Given the description of an element on the screen output the (x, y) to click on. 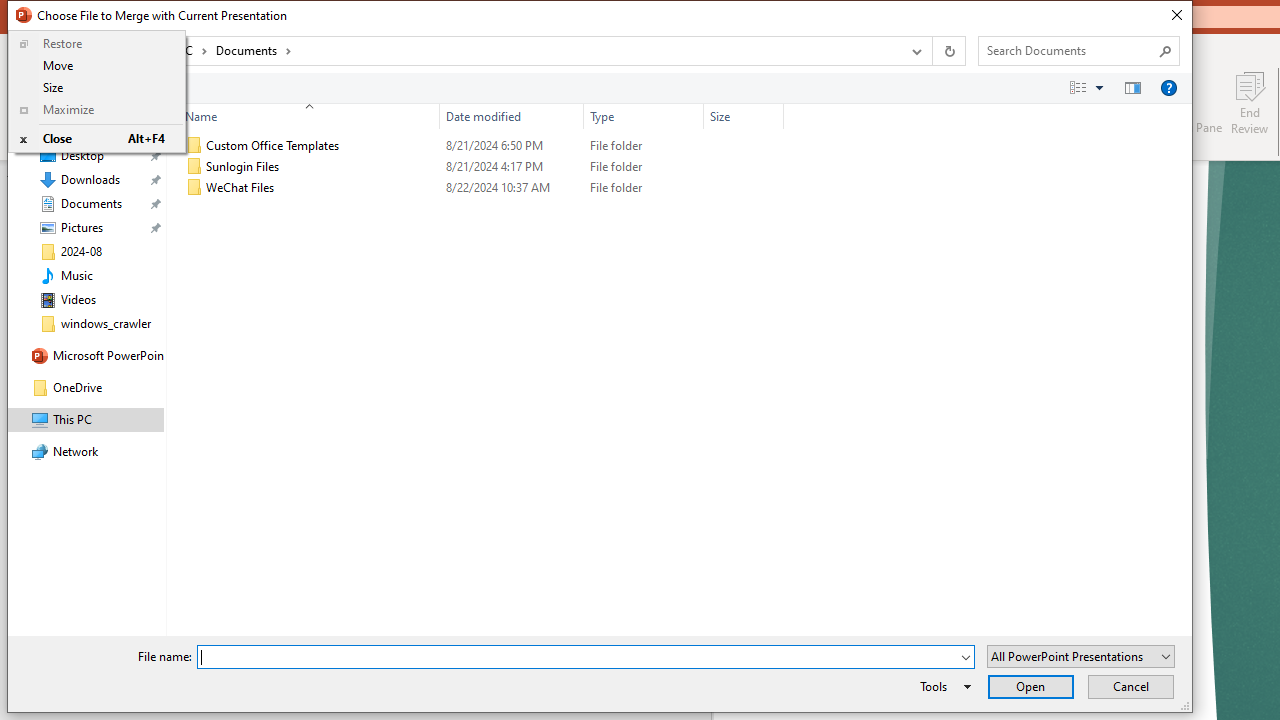
File name: (577, 657)
Address: Documents (506, 51)
Files of type: (1080, 656)
Back (Alt + Left Arrow) (26, 51)
Maximize (97, 109)
Tools (942, 686)
File name: (586, 656)
View Slider (1099, 87)
Previous Locations (914, 51)
Size (743, 187)
Filter dropdown (775, 115)
Tools (942, 686)
